Given the description of an element on the screen output the (x, y) to click on. 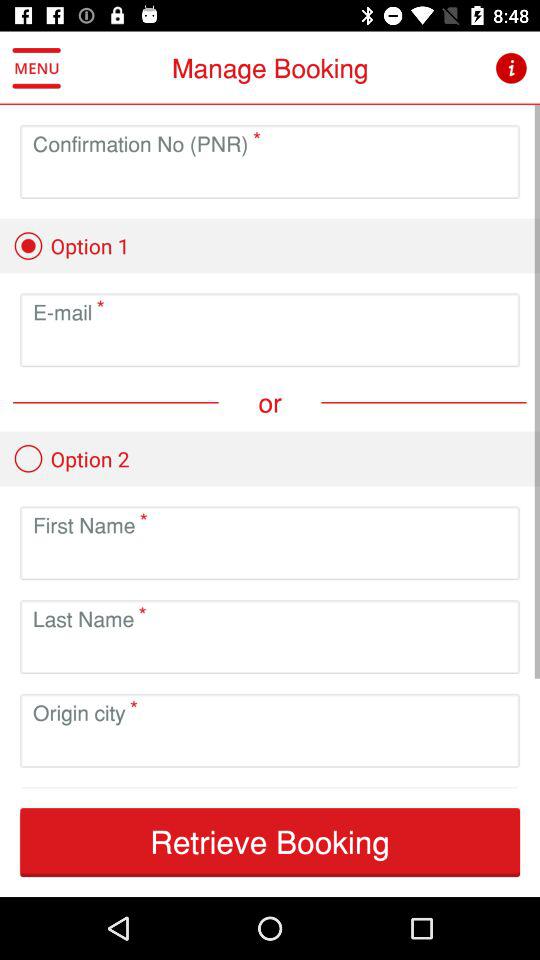
click the icon to the left of manage booking item (36, 68)
